Given the description of an element on the screen output the (x, y) to click on. 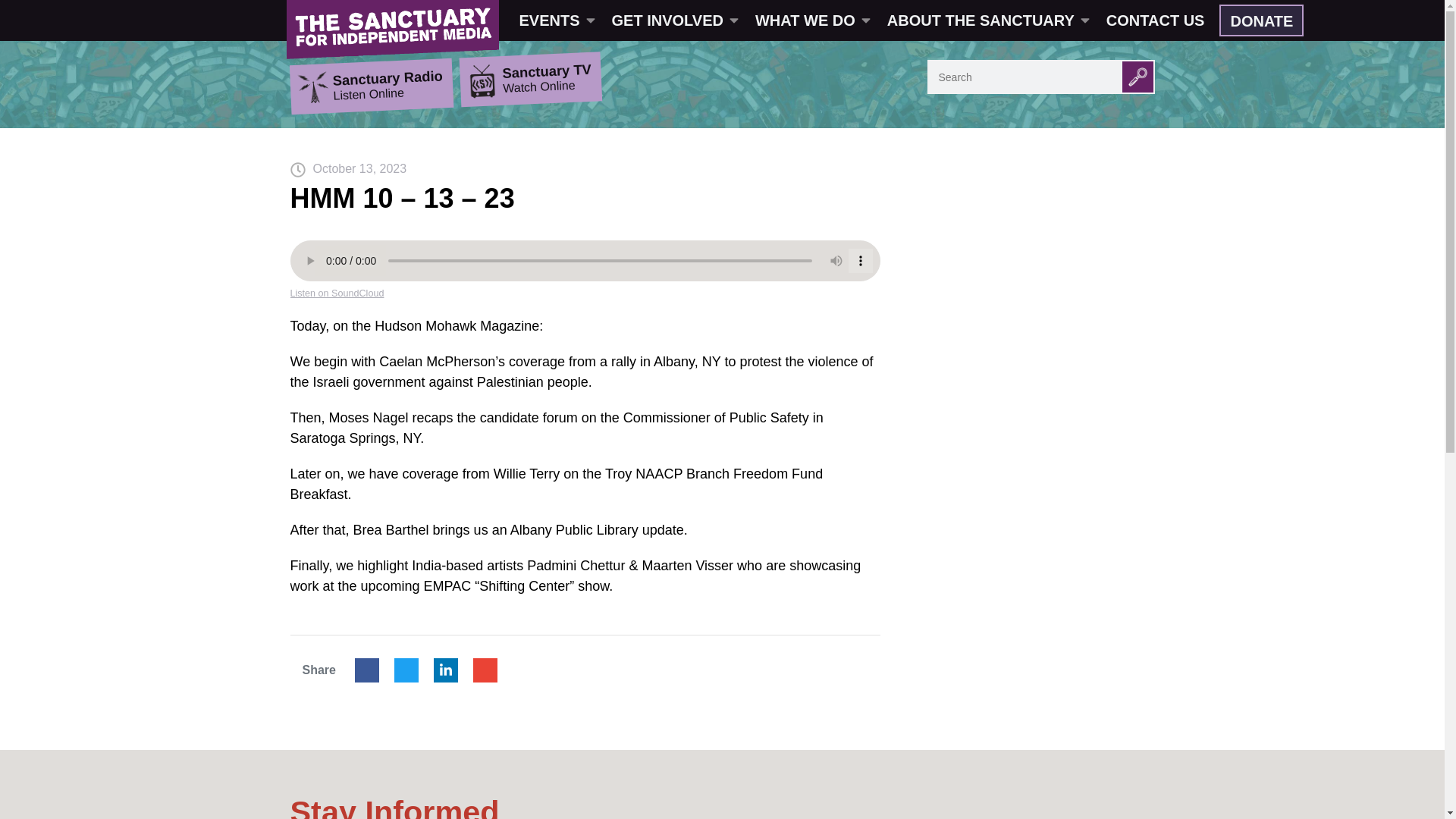
EVENTS (555, 20)
WHAT WE DO (811, 20)
GET INVOLVED (673, 20)
ABOUT THE SANCTUARY (987, 20)
